Given the description of an element on the screen output the (x, y) to click on. 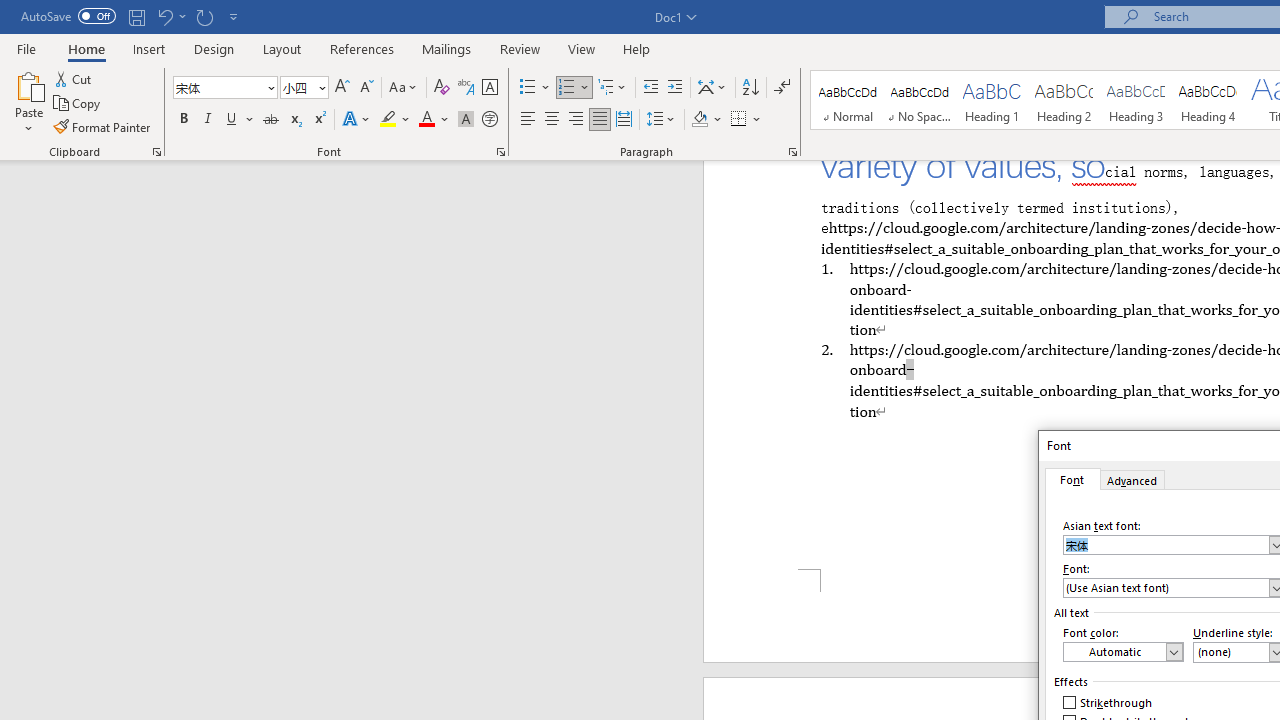
Superscript (319, 119)
File Tab (26, 48)
Enclose Characters... (489, 119)
Clear Formatting (442, 87)
Insert (149, 48)
Font Color (Automatic) (1123, 651)
Home (86, 48)
Line and Paragraph Spacing (661, 119)
Multilevel List (613, 87)
Paragraph... (792, 151)
Heading 3 (1135, 100)
Heading 2 (1063, 100)
Font Size (304, 87)
Align Left (527, 119)
Center (552, 119)
